Given the description of an element on the screen output the (x, y) to click on. 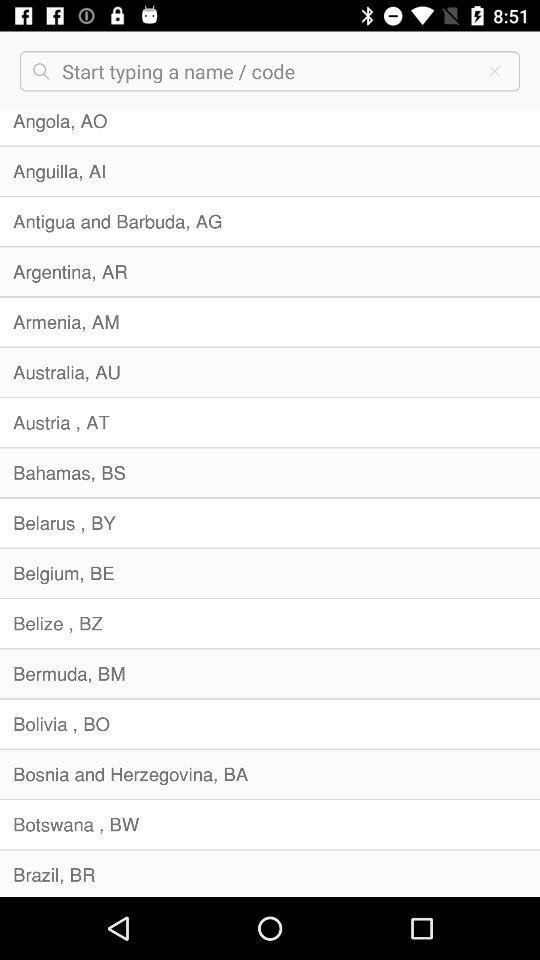
jump until the anguilla, ai icon (270, 171)
